Given the description of an element on the screen output the (x, y) to click on. 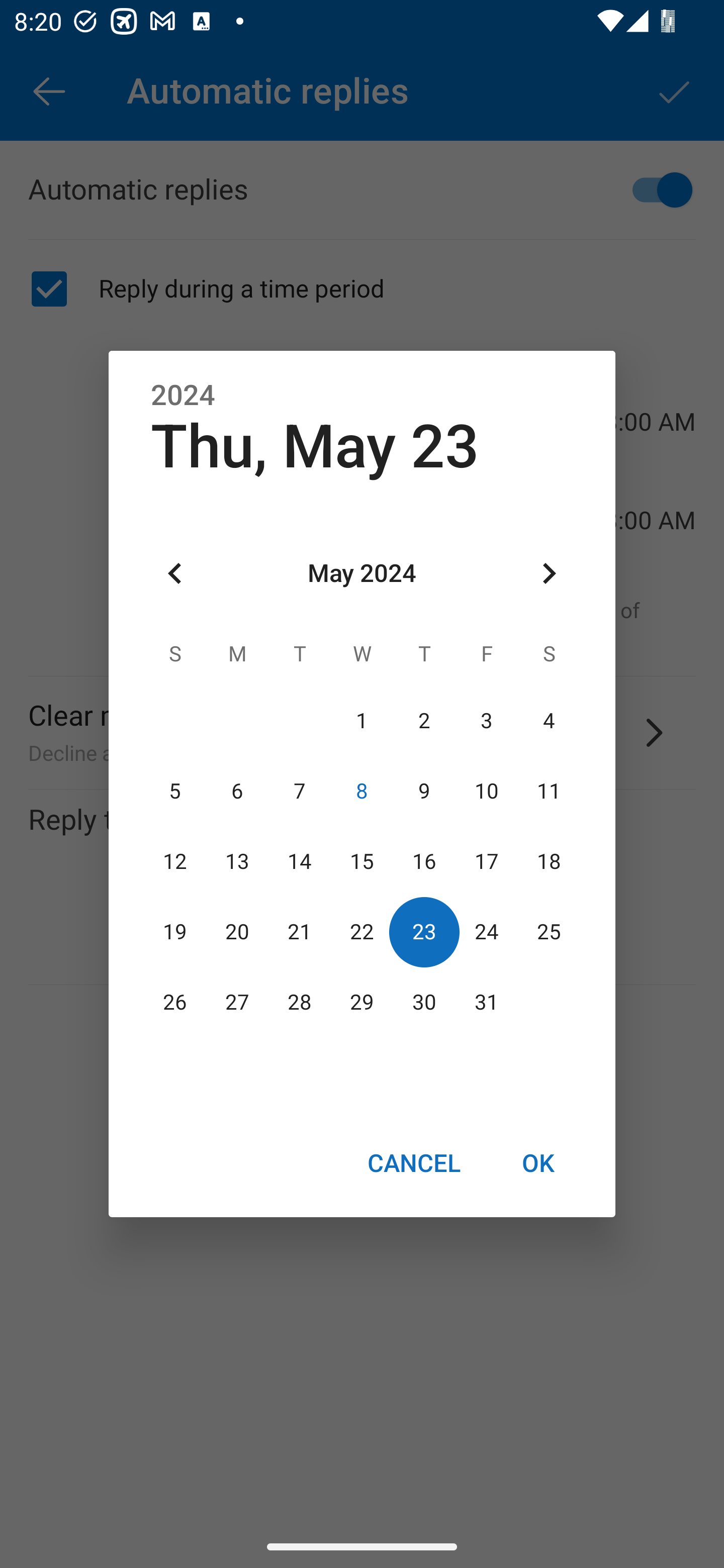
2024 (182, 395)
Thu, May 23 (314, 446)
Previous month (174, 573)
Next month (548, 573)
1 01 May 2024 (361, 720)
2 02 May 2024 (424, 720)
3 03 May 2024 (486, 720)
4 04 May 2024 (548, 720)
5 05 May 2024 (175, 790)
6 06 May 2024 (237, 790)
7 07 May 2024 (299, 790)
8 08 May 2024 (361, 790)
9 09 May 2024 (424, 790)
10 10 May 2024 (486, 790)
11 11 May 2024 (548, 790)
12 12 May 2024 (175, 861)
13 13 May 2024 (237, 861)
14 14 May 2024 (299, 861)
15 15 May 2024 (361, 861)
16 16 May 2024 (424, 861)
17 17 May 2024 (486, 861)
18 18 May 2024 (548, 861)
19 19 May 2024 (175, 931)
20 20 May 2024 (237, 931)
21 21 May 2024 (299, 931)
22 22 May 2024 (361, 931)
23 23 May 2024 (424, 931)
24 24 May 2024 (486, 931)
25 25 May 2024 (548, 931)
26 26 May 2024 (175, 1002)
27 27 May 2024 (237, 1002)
28 28 May 2024 (299, 1002)
29 29 May 2024 (361, 1002)
30 30 May 2024 (424, 1002)
31 31 May 2024 (486, 1002)
CANCEL (413, 1162)
OK (537, 1162)
